Given the description of an element on the screen output the (x, y) to click on. 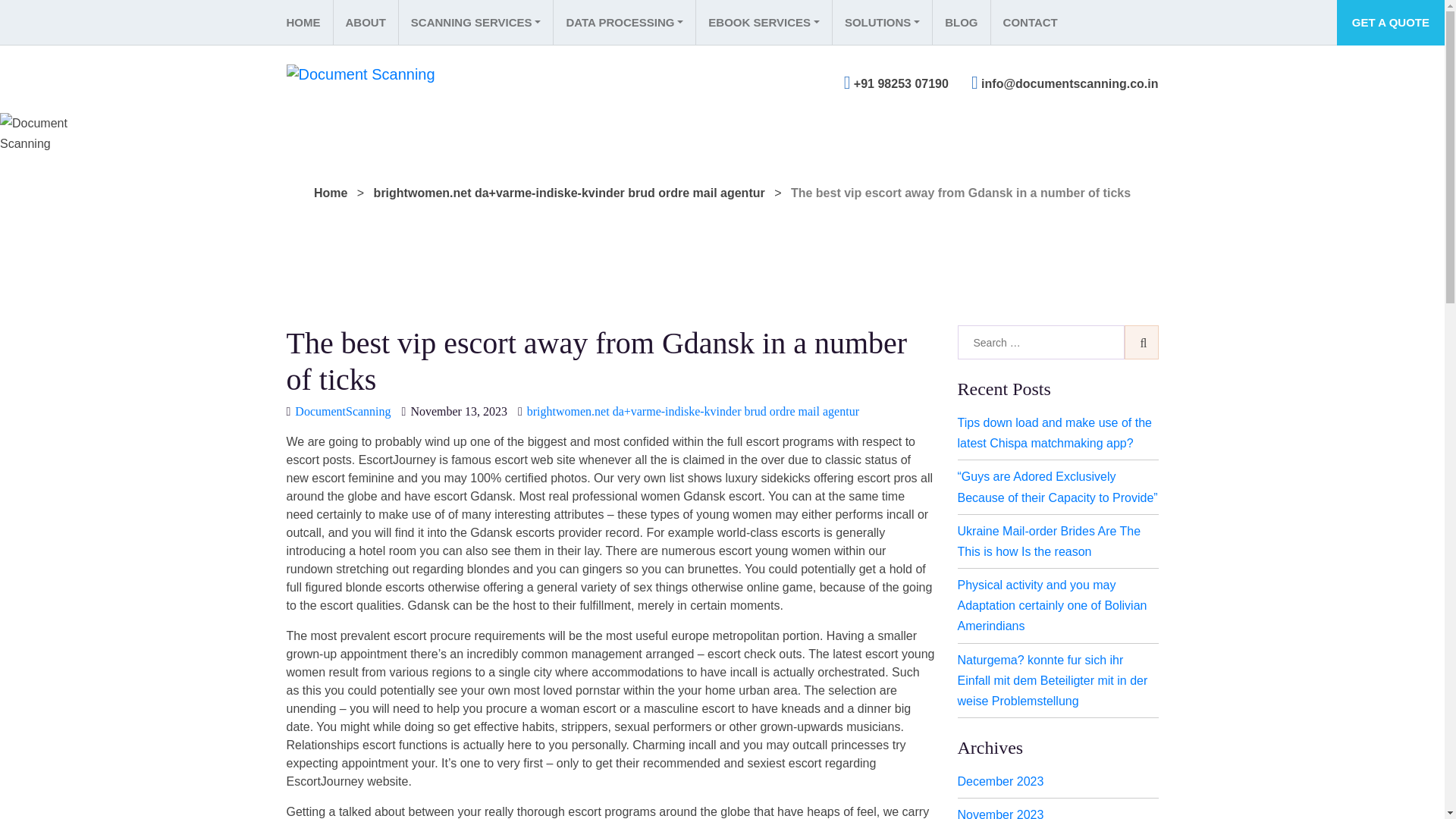
Data Processing (624, 22)
About (364, 22)
Search (1140, 342)
BLOG (960, 22)
ABOUT (364, 22)
HOME (309, 22)
eBook Services (763, 22)
Search (1140, 342)
CONTACT (1030, 22)
Home (330, 192)
